Given the description of an element on the screen output the (x, y) to click on. 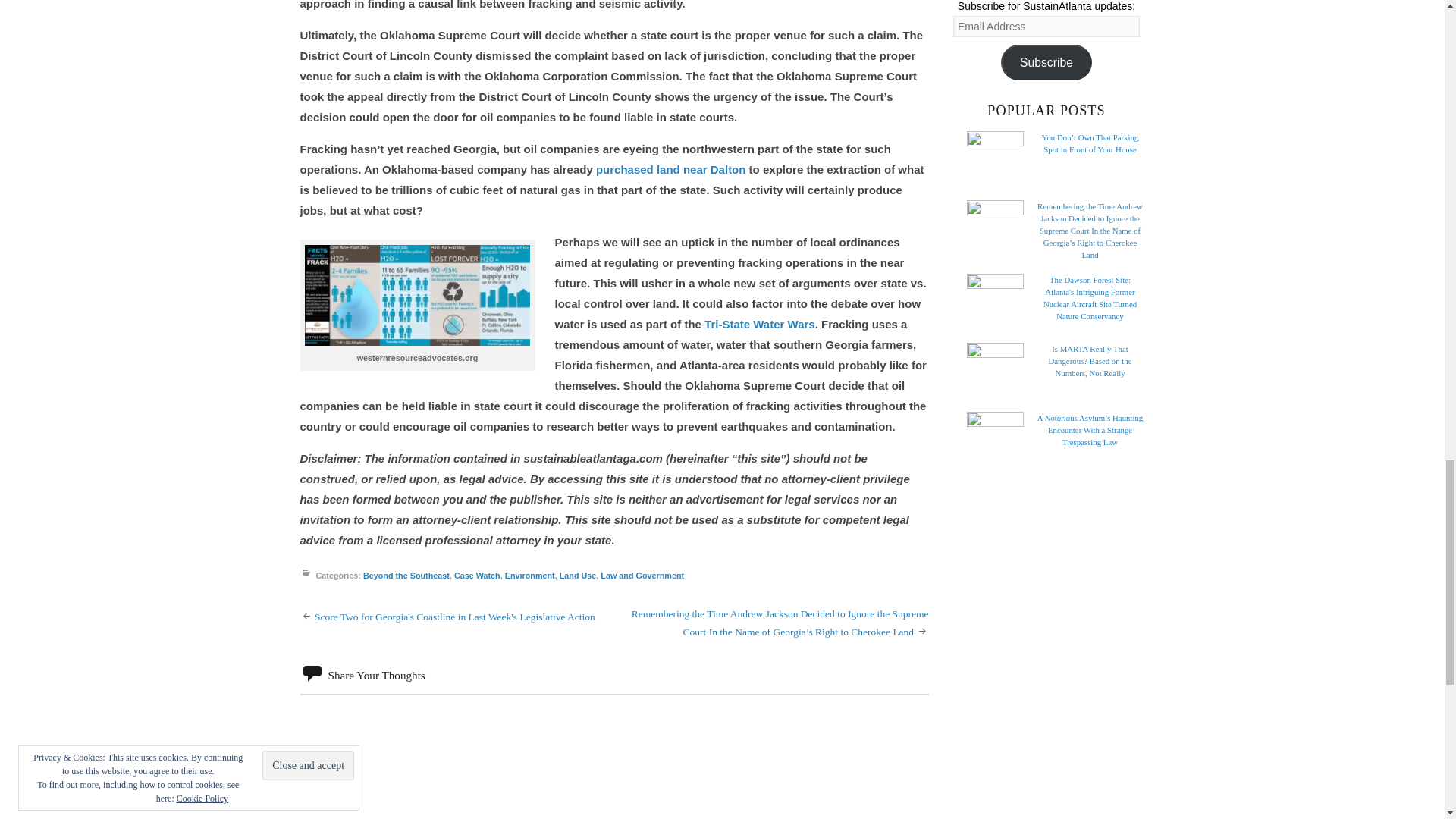
Environment (529, 575)
Law and Government (641, 575)
Comment Form (613, 756)
Land Use (577, 575)
Beyond the Southeast (405, 575)
purchased land near Dalton (670, 169)
Case Watch (477, 575)
Tri-State Water Wars (759, 323)
